Given the description of an element on the screen output the (x, y) to click on. 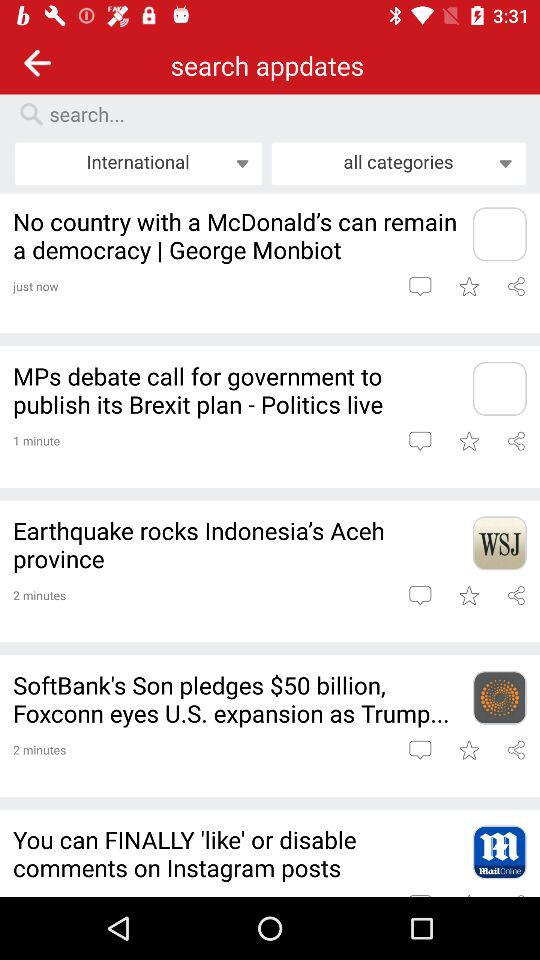
leave comment (419, 286)
